Given the description of an element on the screen output the (x, y) to click on. 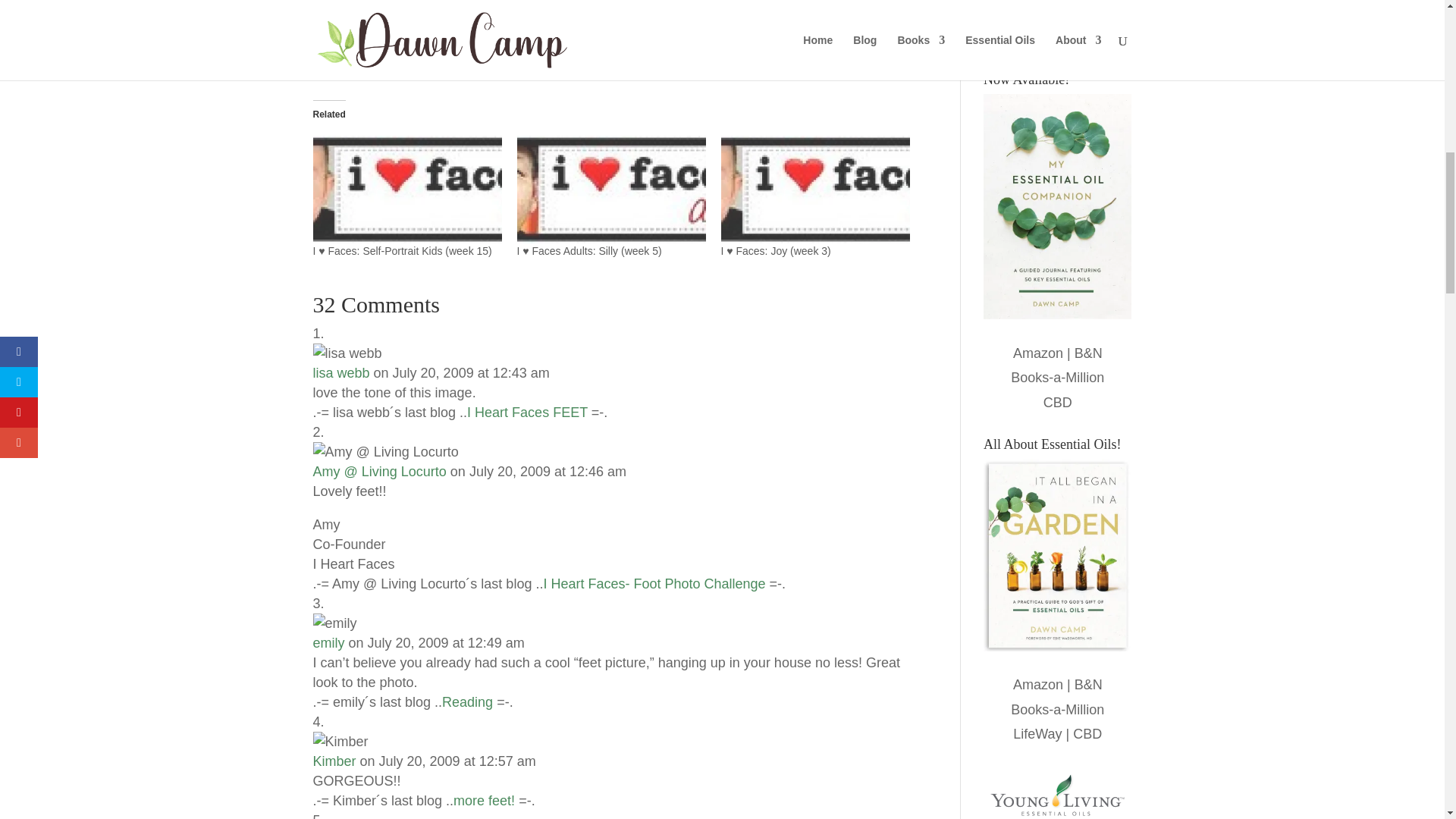
see how this could benefit you (599, 34)
